Given the description of an element on the screen output the (x, y) to click on. 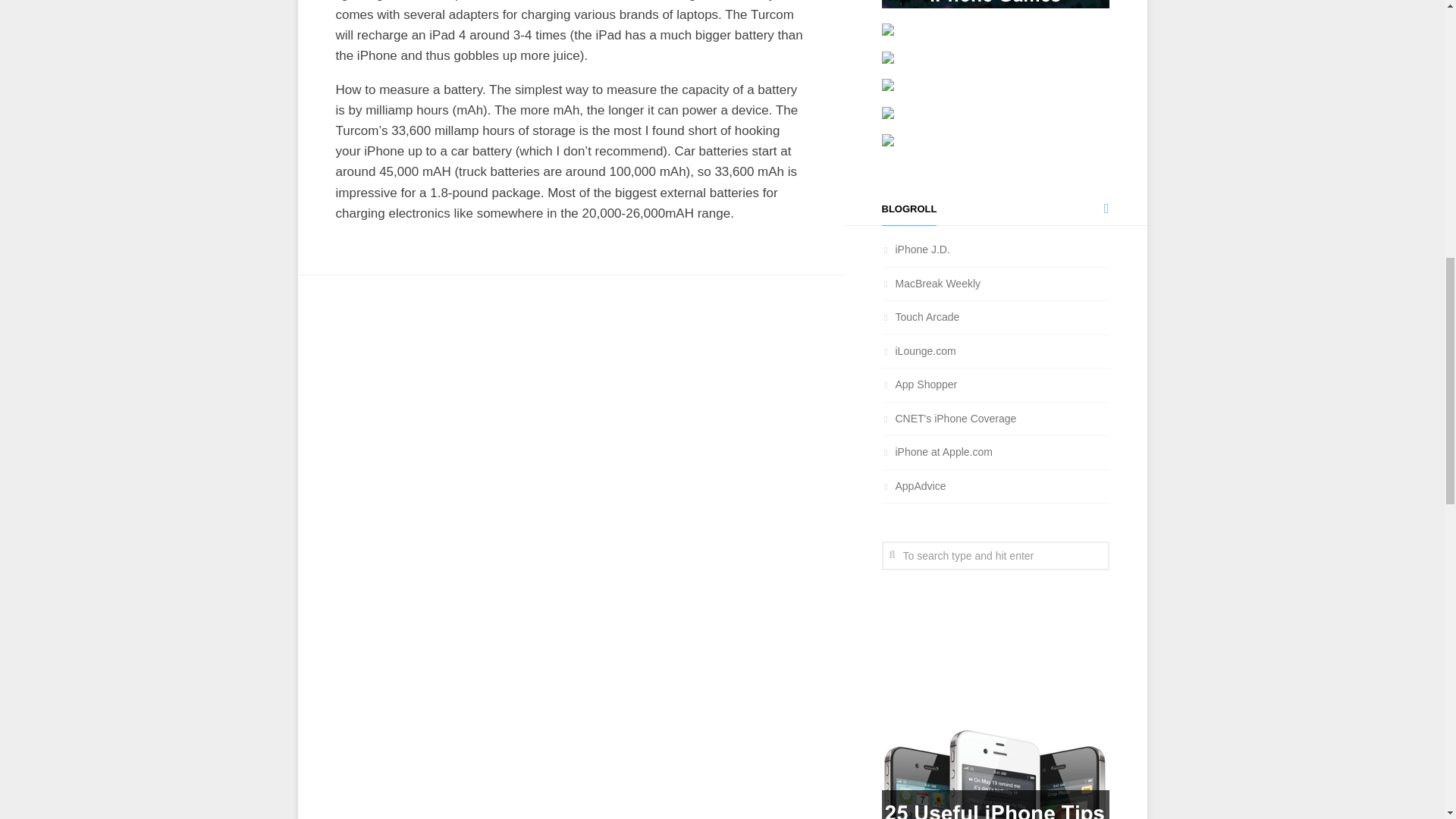
CNET's iPhone Coverage (948, 418)
App Shopper (918, 384)
iPhone at Apple.com (935, 451)
Case reviews, acessories, and more (917, 349)
iPhone and iPad Games (919, 316)
Info for Lawyers Who Own iPhones (914, 249)
AppAdvice (912, 485)
To search type and hit enter (994, 555)
Podcast about everything Apple. (929, 283)
Tracks the prices of apps in the App Store. (918, 384)
